Given the description of an element on the screen output the (x, y) to click on. 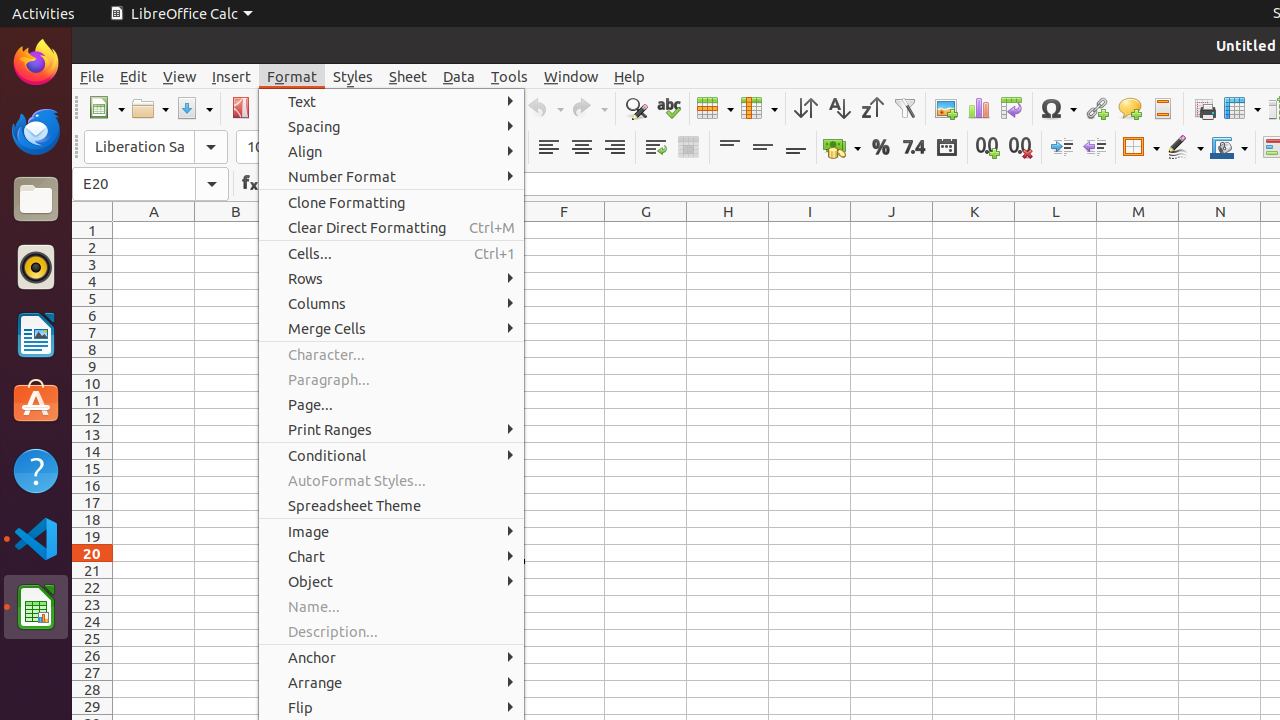
Anchor Element type: menu (391, 657)
Percent Element type: push-button (880, 147)
Image Element type: push-button (945, 108)
Image Element type: menu (391, 531)
Center Vertically Element type: push-button (762, 147)
